Given the description of an element on the screen output the (x, y) to click on. 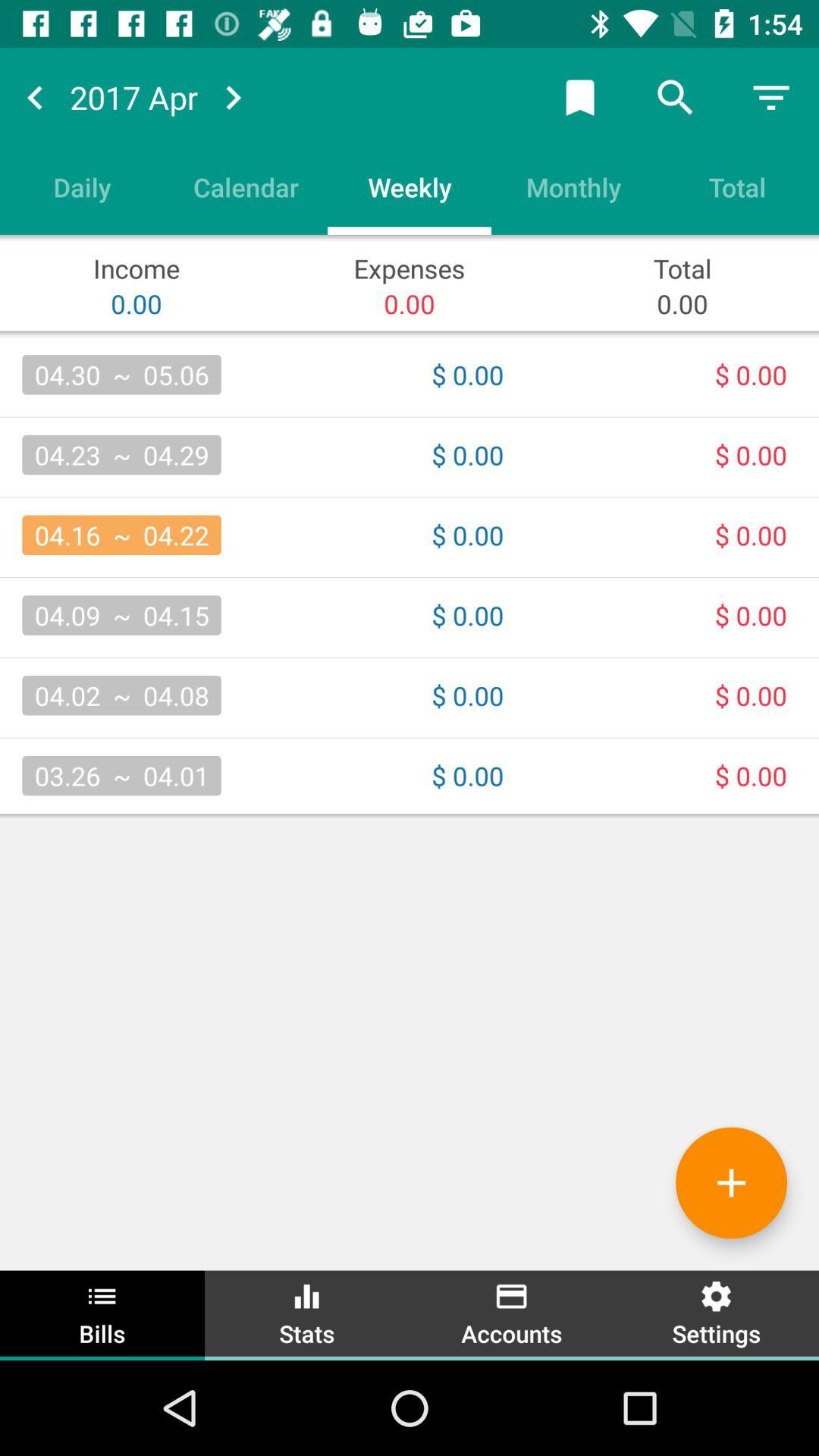
go forward (232, 97)
